Given the description of an element on the screen output the (x, y) to click on. 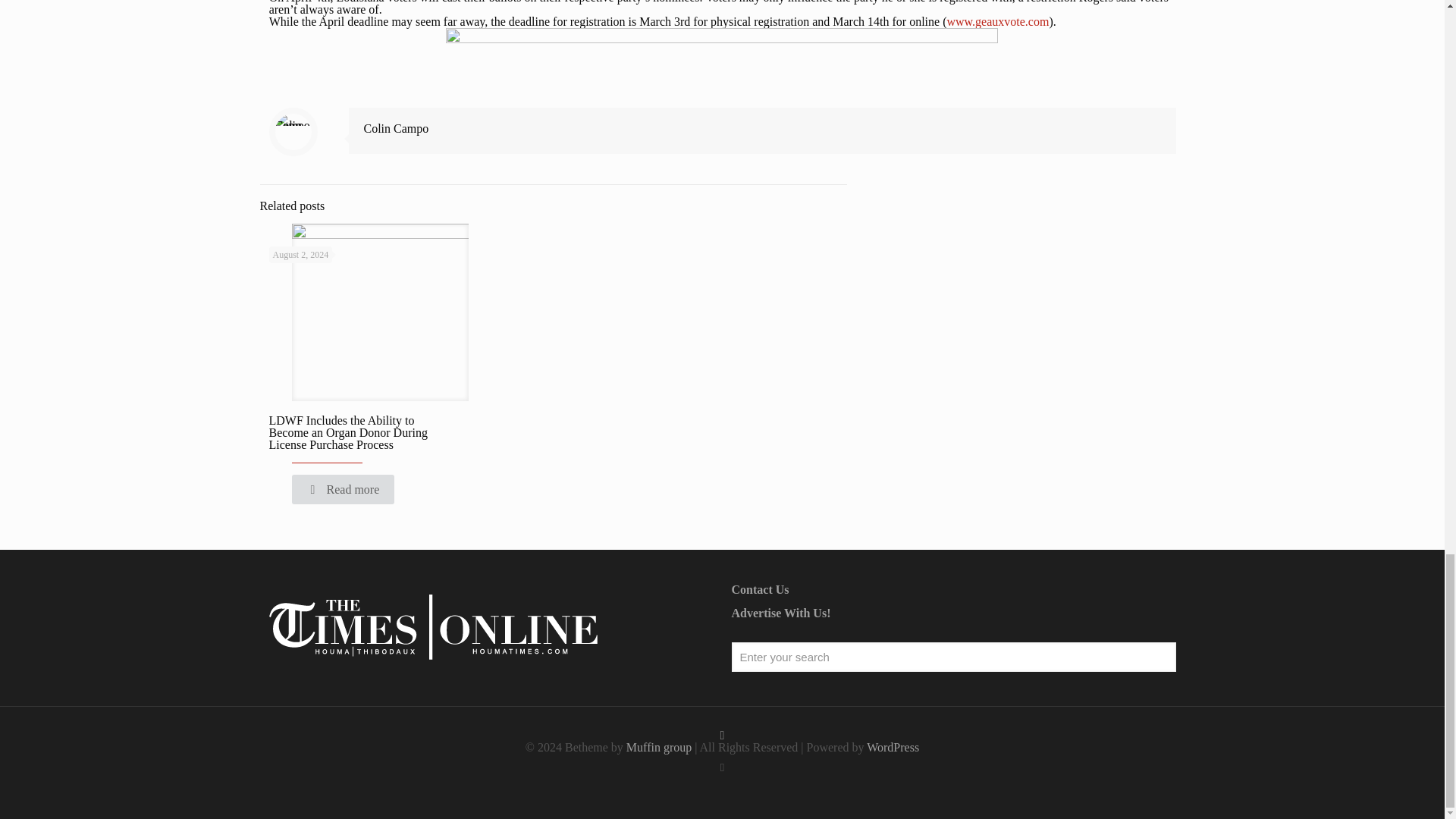
Facebook (722, 767)
